Given the description of an element on the screen output the (x, y) to click on. 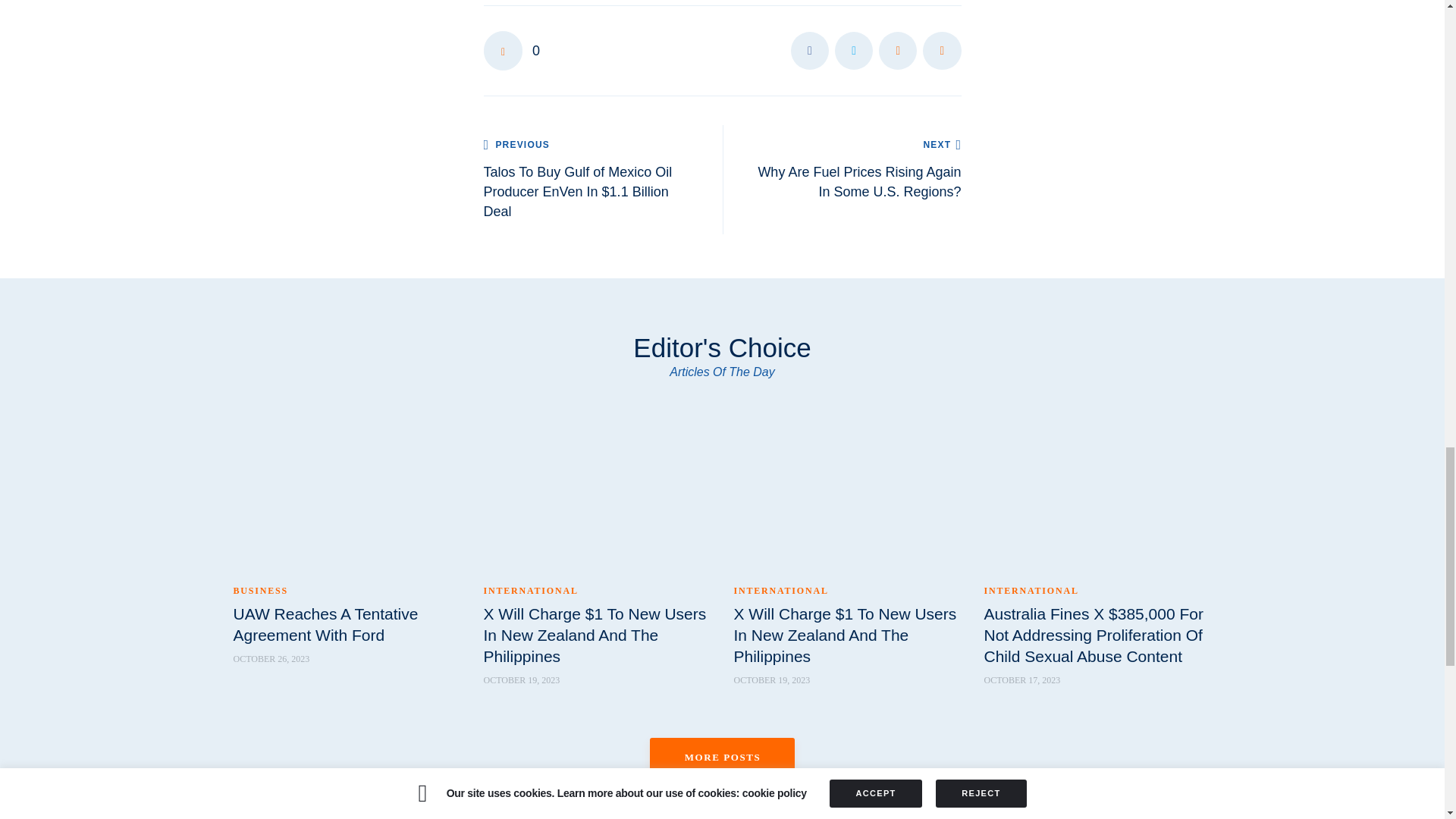
Like (511, 50)
Copy URL to clipboard (941, 50)
